Given the description of an element on the screen output the (x, y) to click on. 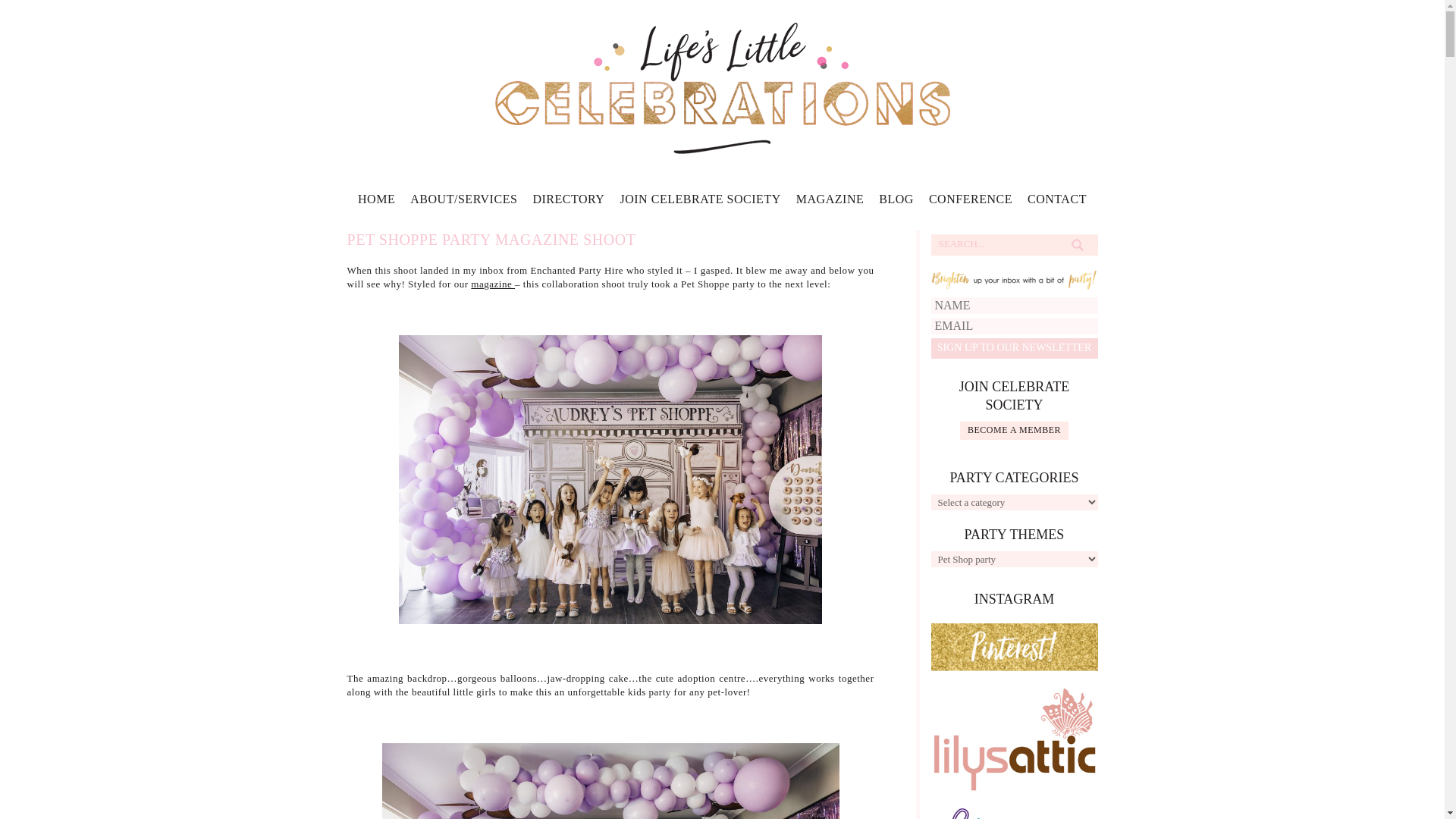
magazine (492, 283)
MAGAZINE (829, 203)
CONFERENCE (969, 203)
Search (1076, 244)
Sign up to our newsletter (1014, 348)
Sign up to our newsletter (1014, 348)
Enchanted Party Hire (577, 270)
Lifes Little Celebration (722, 86)
SEARCH... (1002, 244)
Pet Shoppe Party Magazine Shoot (491, 239)
Search (1076, 244)
BECOME A MEMBER (1013, 430)
HOME (376, 203)
SEARCH... (1002, 244)
Pinterest (1014, 645)
